Given the description of an element on the screen output the (x, y) to click on. 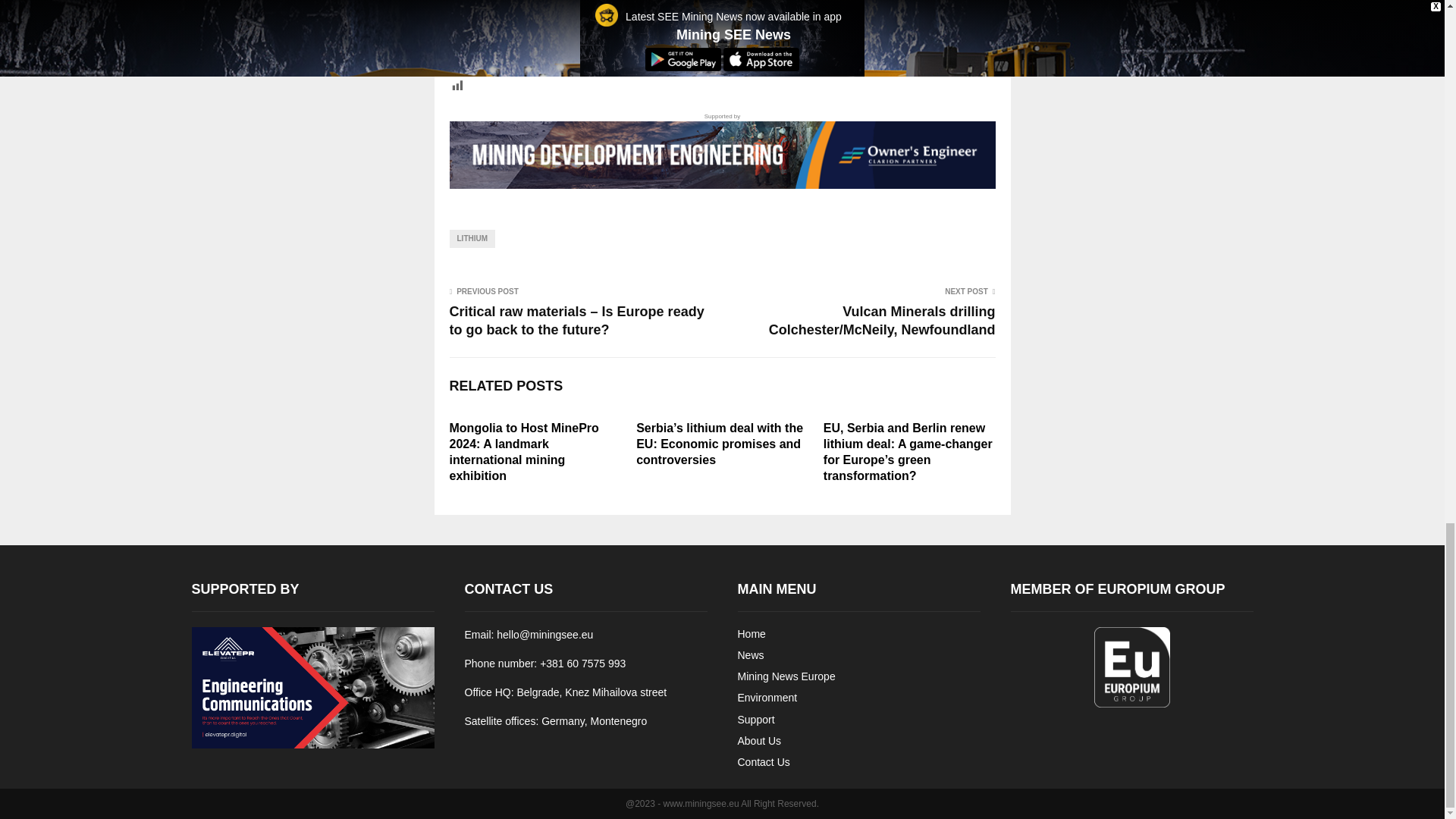
LITHIUM (471, 239)
Supported by (721, 150)
